Given the description of an element on the screen output the (x, y) to click on. 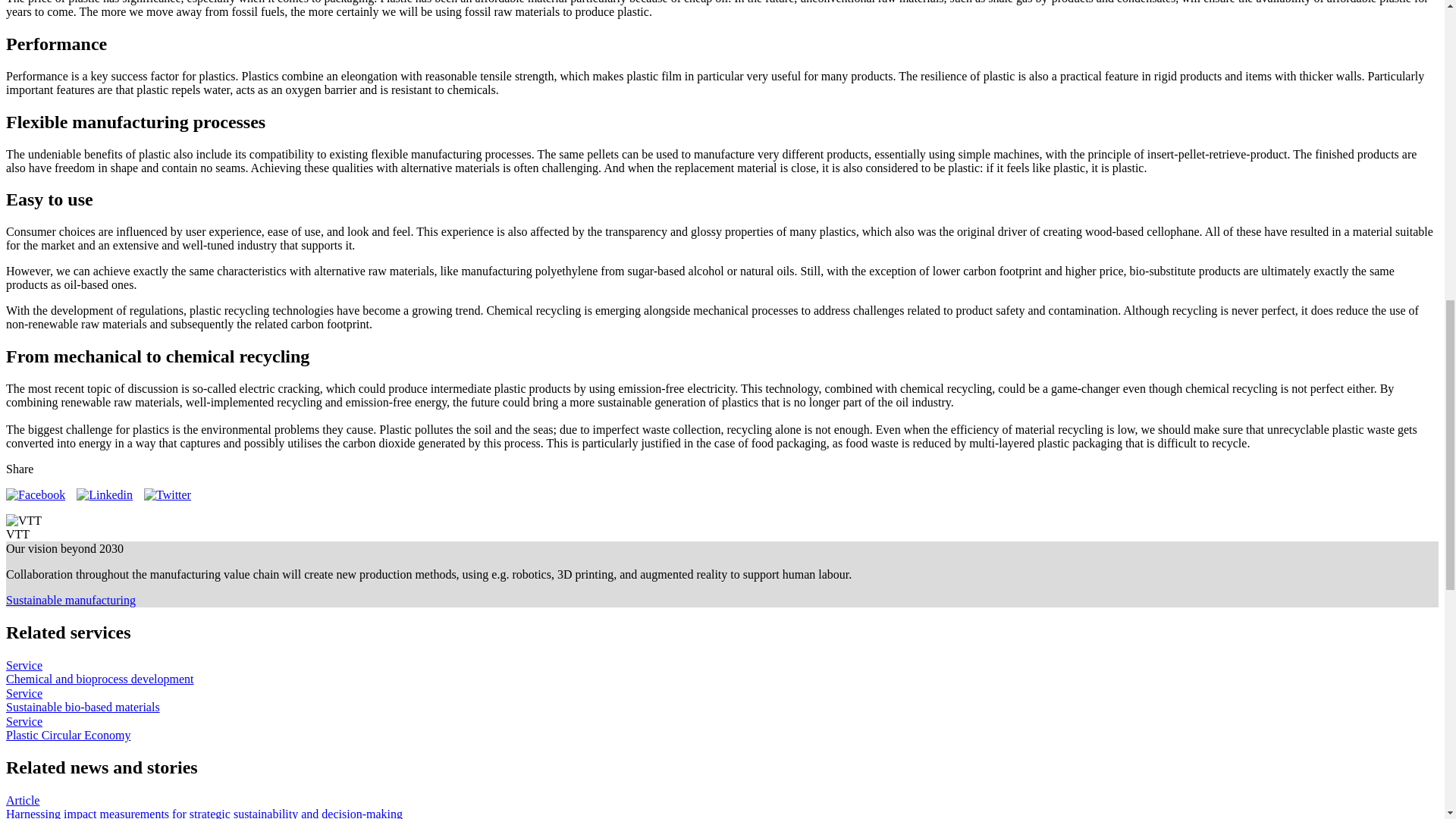
Twitter (167, 494)
Linkedin (104, 494)
Facebook (35, 494)
